Given the description of an element on the screen output the (x, y) to click on. 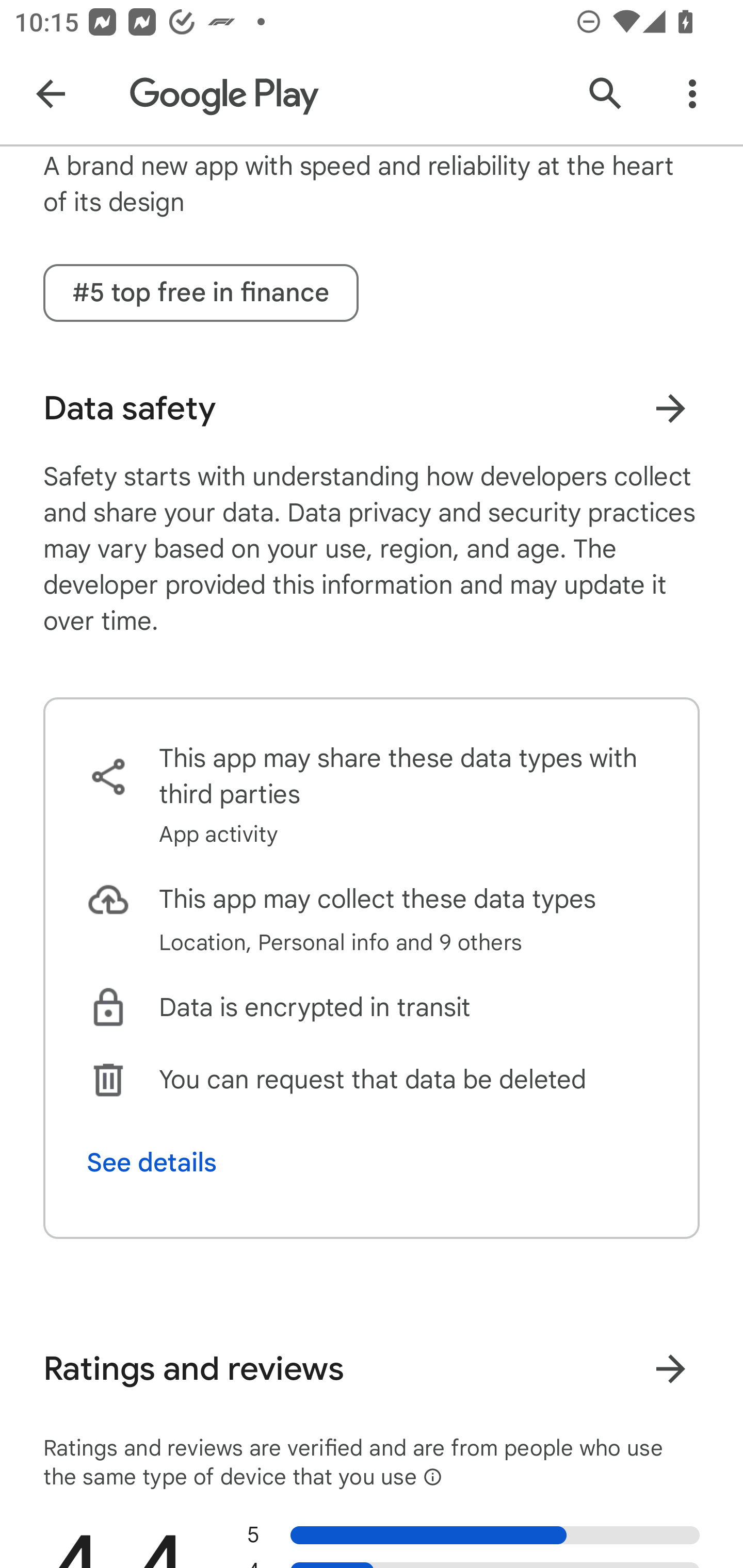
Navigate up (50, 93)
Search Google Play (605, 93)
More Options (692, 93)
#5 top free in finance tag (200, 292)
Data safety Learn more about data safety (371, 408)
Learn more about data safety (670, 408)
See details (151, 1162)
Ratings and reviews View all ratings and reviews (371, 1368)
View all ratings and reviews (670, 1368)
